Given the description of an element on the screen output the (x, y) to click on. 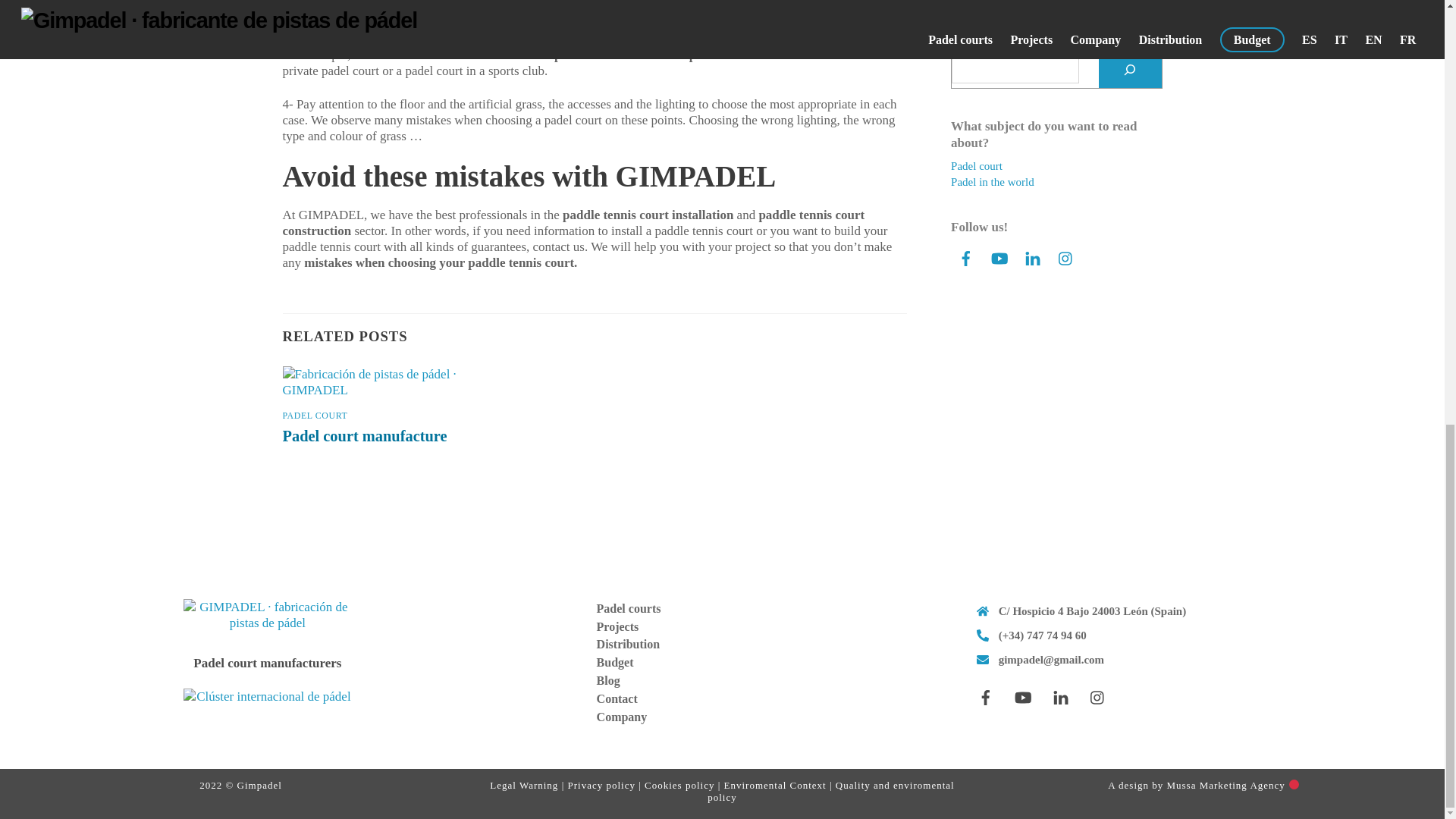
Padel court manufacture (364, 435)
PADEL COURT (314, 415)
